Given the description of an element on the screen output the (x, y) to click on. 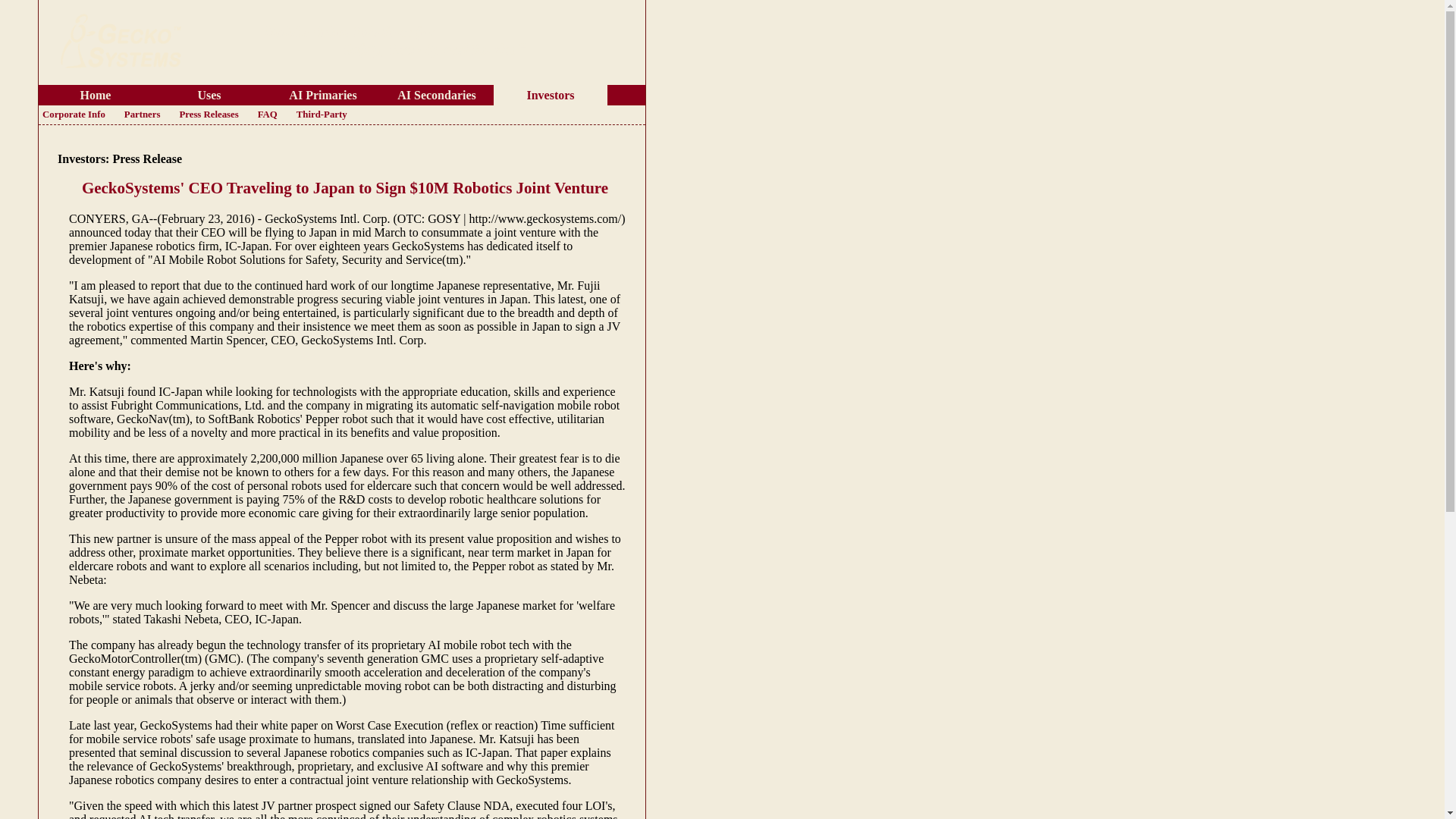
Third-Party (321, 114)
Press Releases (207, 114)
Partners (142, 114)
FAQ (267, 114)
Uses (209, 94)
Corporate Info (74, 114)
AI Secondaries (436, 94)
AI Primaries (323, 94)
Home (95, 94)
